Given the description of an element on the screen output the (x, y) to click on. 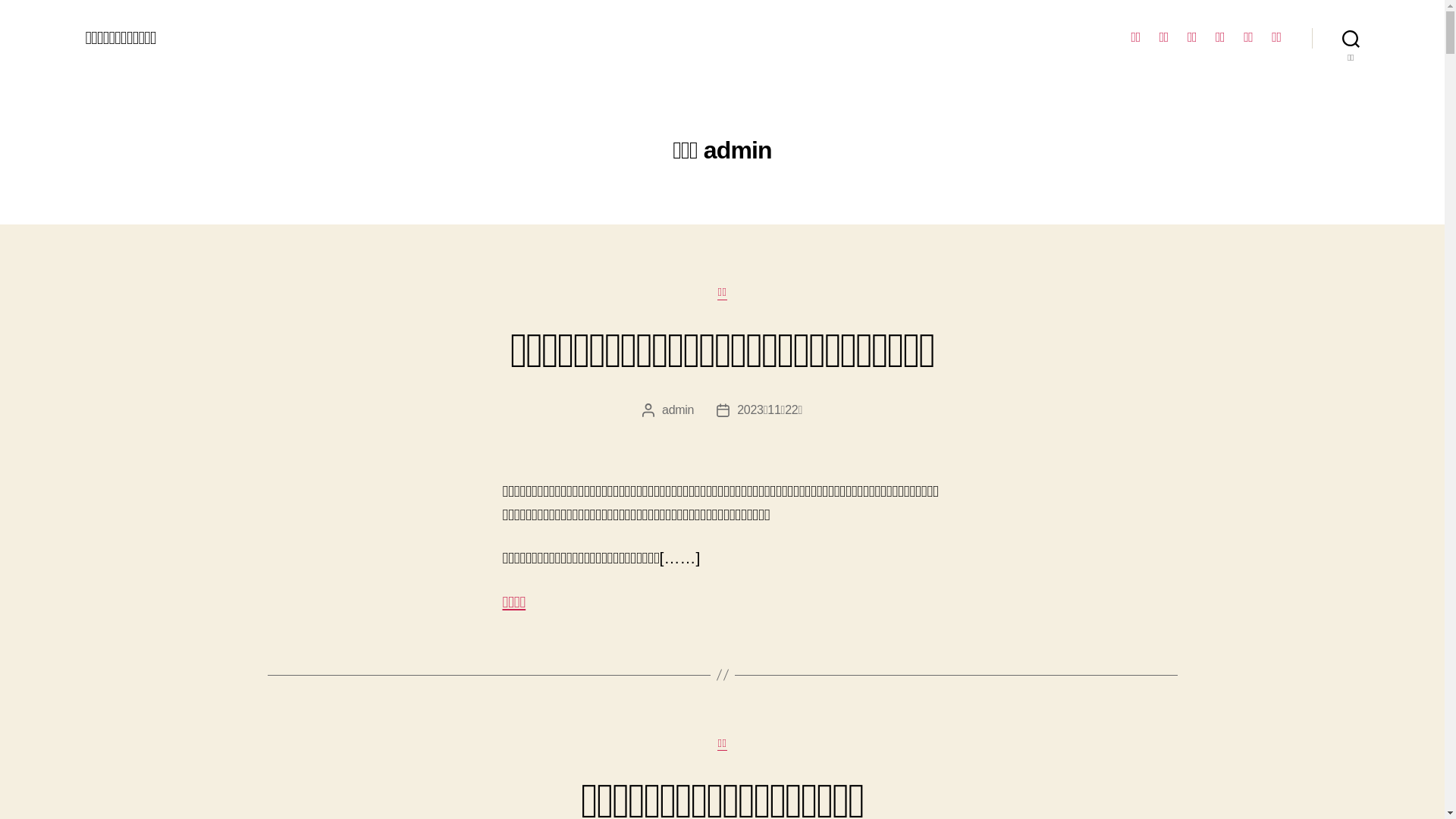
admin Element type: text (677, 409)
